Given the description of an element on the screen output the (x, y) to click on. 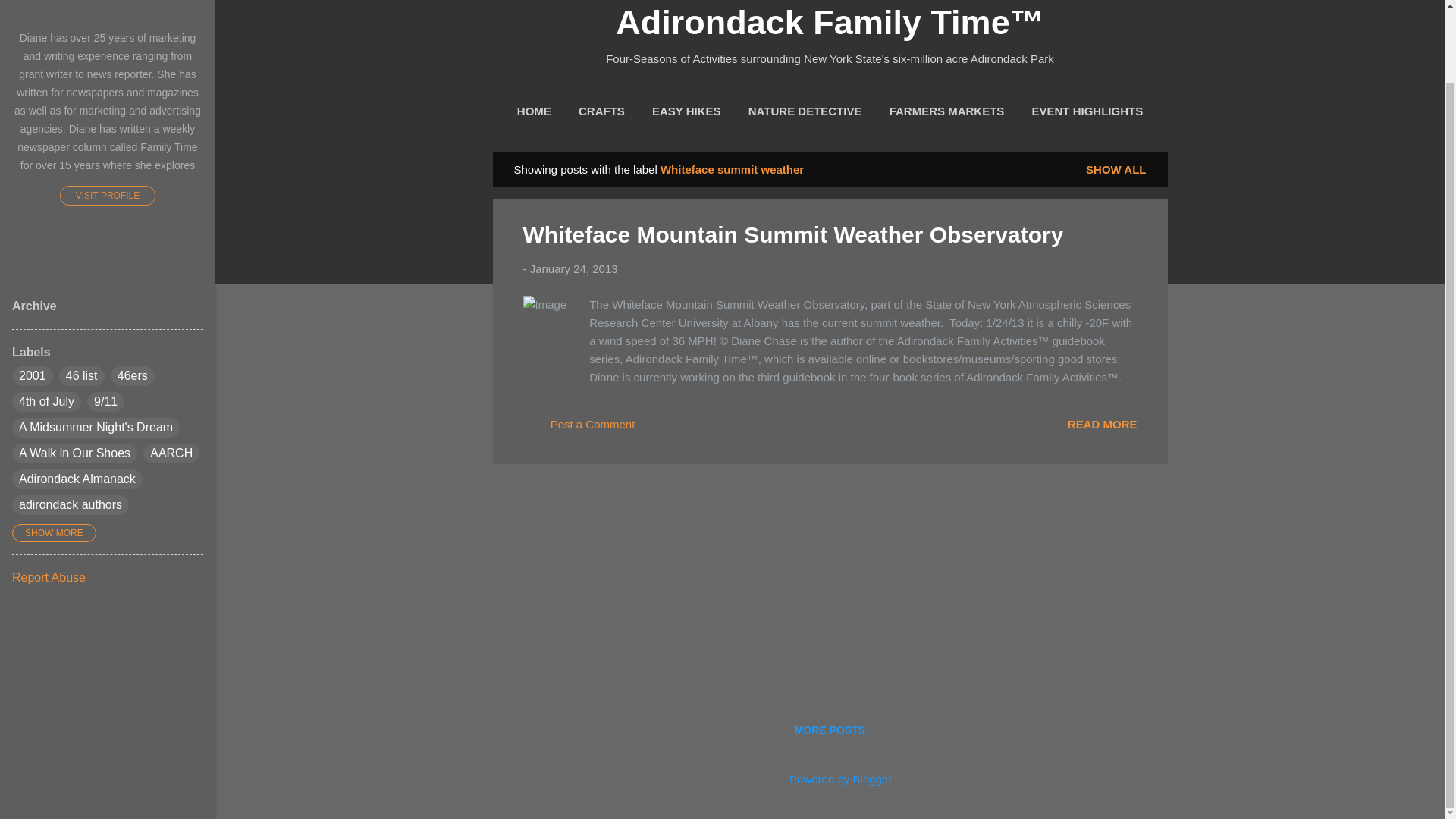
READ MORE (1102, 422)
Powered by Blogger (829, 779)
MORE POSTS (829, 730)
FARMERS MARKETS (946, 111)
Whiteface Mountain Summit Weather Observatory (793, 234)
SHOW ALL (1115, 169)
EASY HIKES (686, 111)
VISIT PROFILE (107, 195)
CRAFTS (601, 111)
Post a Comment (578, 429)
NATURE DETECTIVE (804, 111)
January 24, 2013 (573, 268)
EVENT HIGHLIGHTS (1086, 111)
Whiteface Mountain Summit Weather Observatory (1102, 422)
More posts (829, 730)
